Given the description of an element on the screen output the (x, y) to click on. 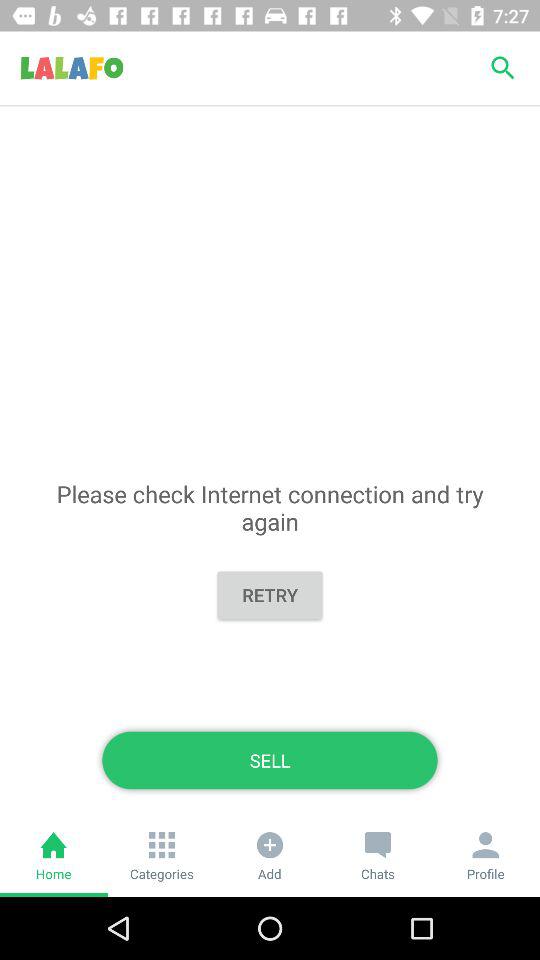
launch the retry item (269, 594)
